Given the description of an element on the screen output the (x, y) to click on. 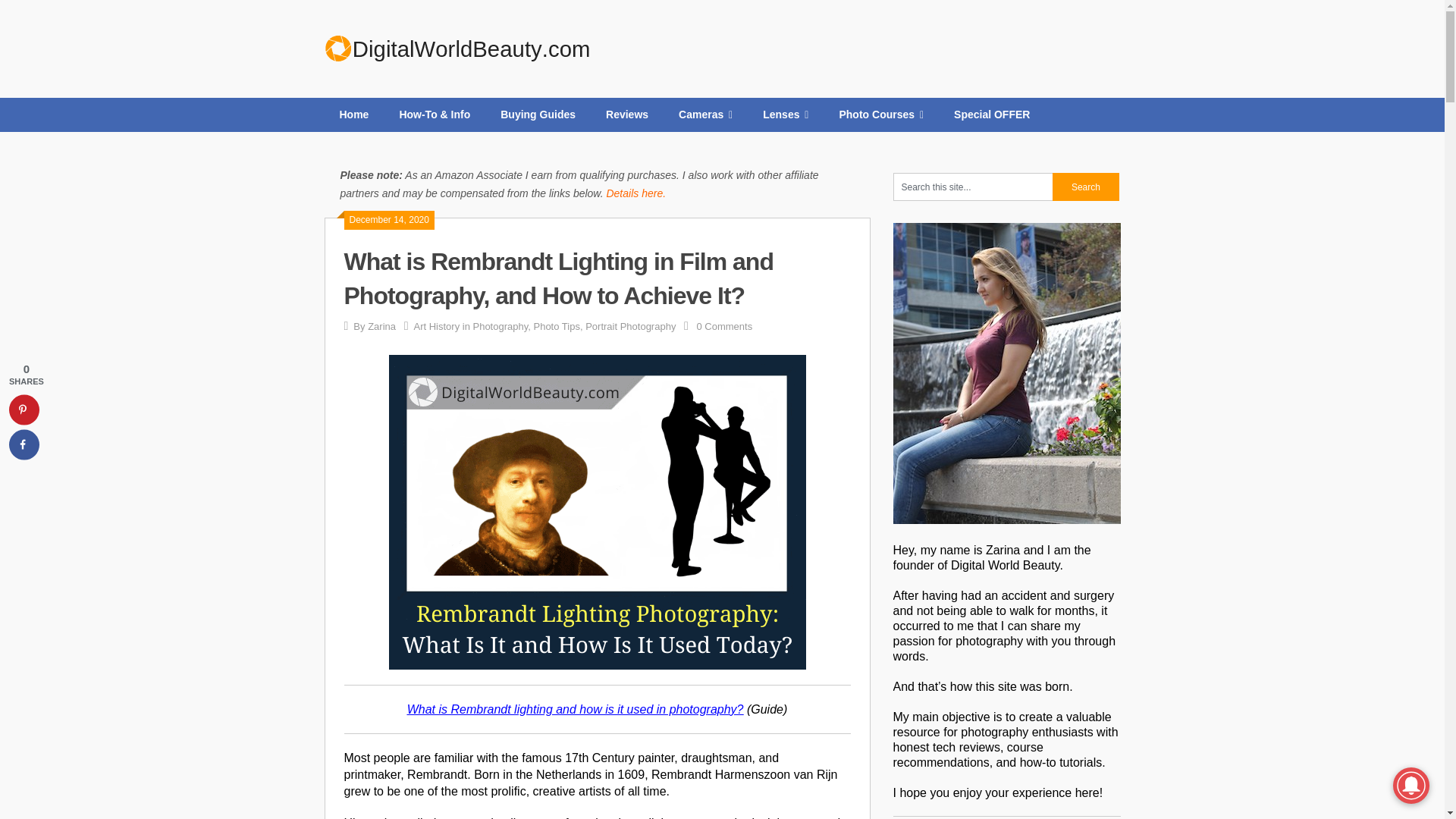
Lenses (786, 114)
Details here. (635, 193)
Posts by Zarina (382, 326)
Zarina (382, 326)
Search this site... (972, 186)
Home (354, 114)
Photo Tips (555, 326)
Search (1085, 186)
Art History in Photography (470, 326)
Share on Facebook (23, 444)
Special OFFER (992, 114)
0 Comments (723, 326)
Save to Pinterest (23, 409)
Photo Courses (881, 114)
